Given the description of an element on the screen output the (x, y) to click on. 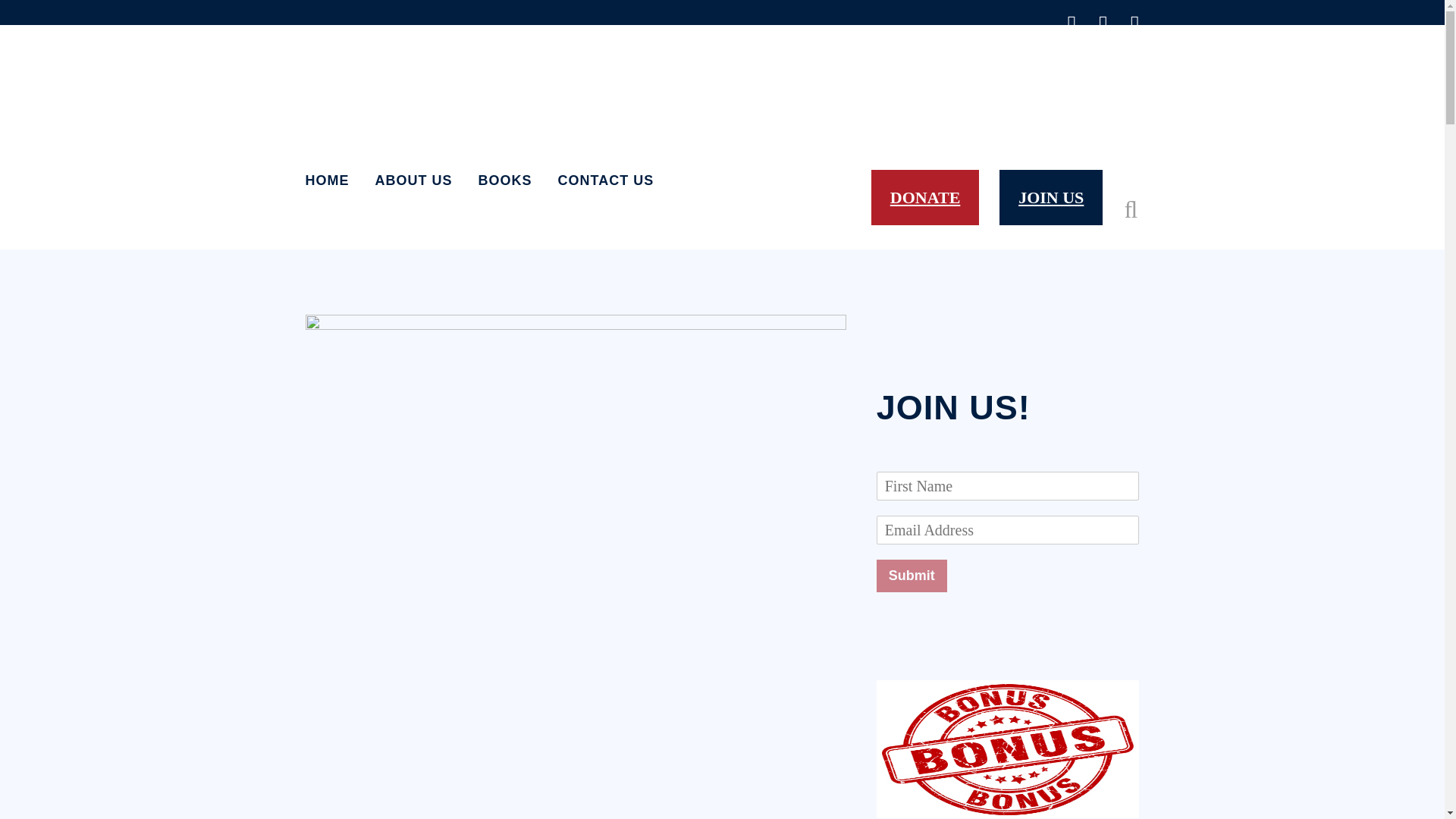
DONATE (924, 197)
ABOUT US (413, 180)
HOME (332, 180)
Submit (911, 575)
BOOKS (504, 180)
CONTACT US (605, 180)
JOIN US (1050, 197)
